Given the description of an element on the screen output the (x, y) to click on. 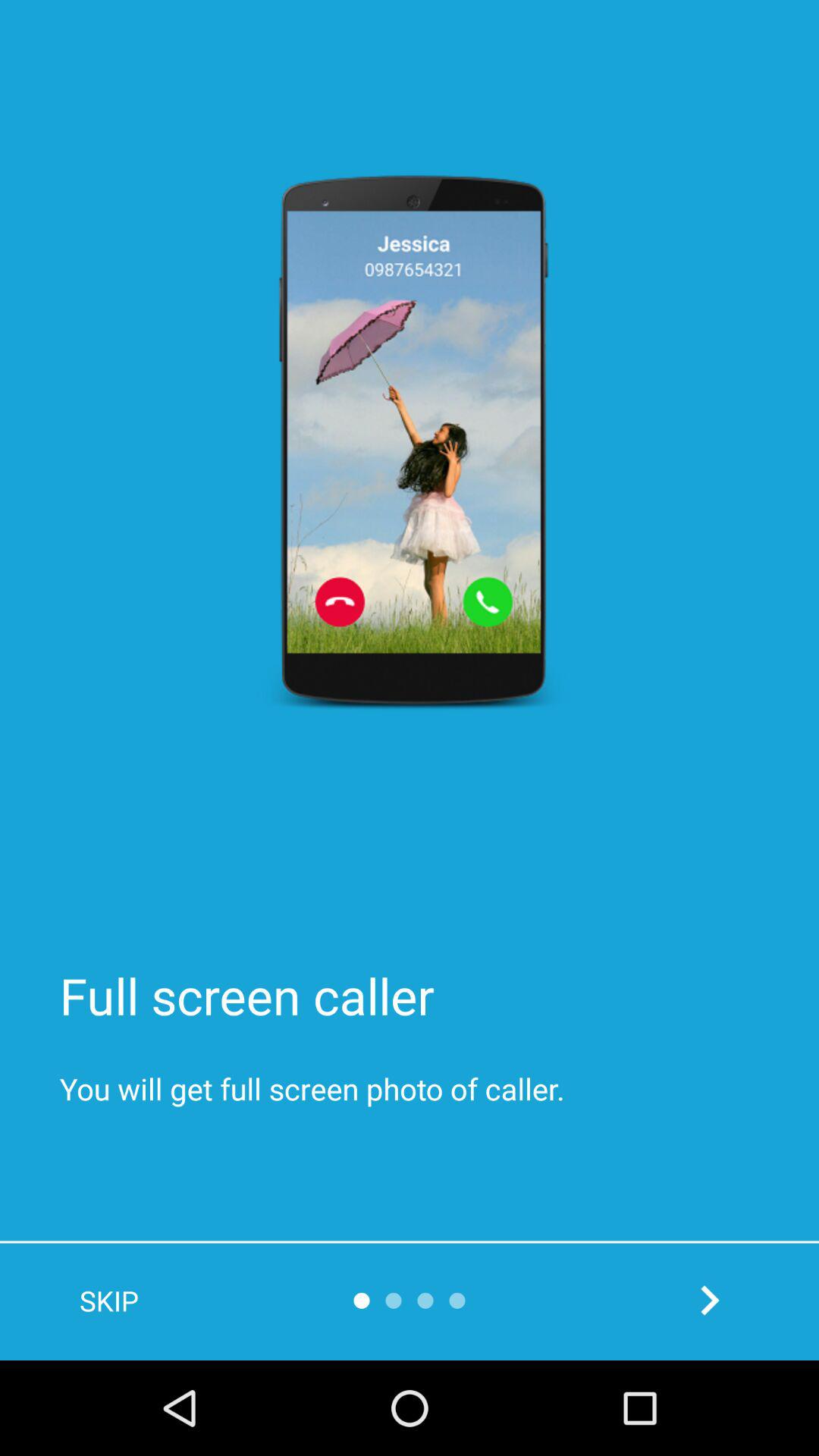
press skip item (108, 1300)
